Given the description of an element on the screen output the (x, y) to click on. 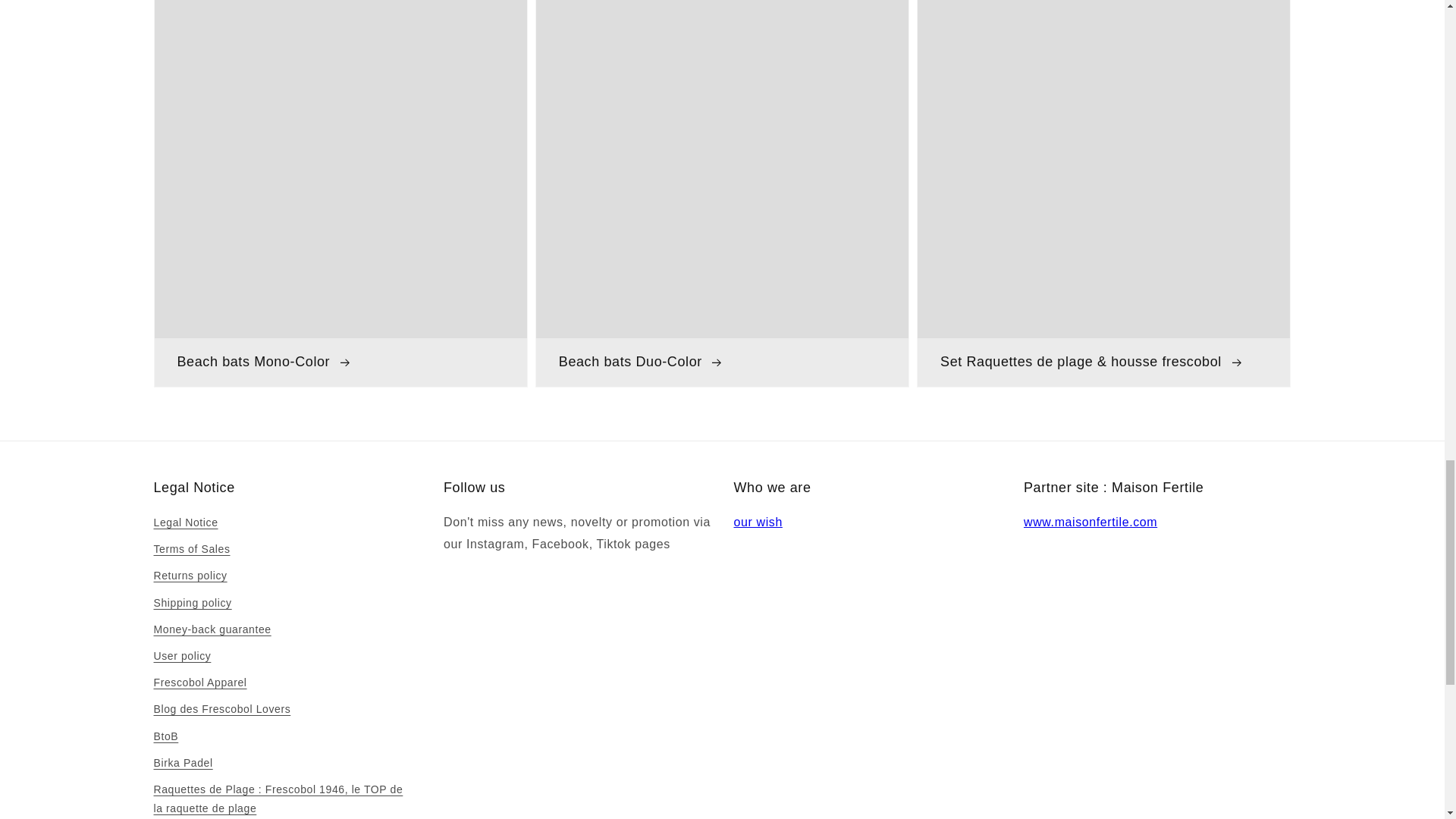
Legal Notice (184, 524)
Terms of Sales (191, 549)
Shipping policy (191, 602)
Our aim (758, 521)
Returns policy (189, 575)
Money-back guarantee (211, 629)
